Given the description of an element on the screen output the (x, y) to click on. 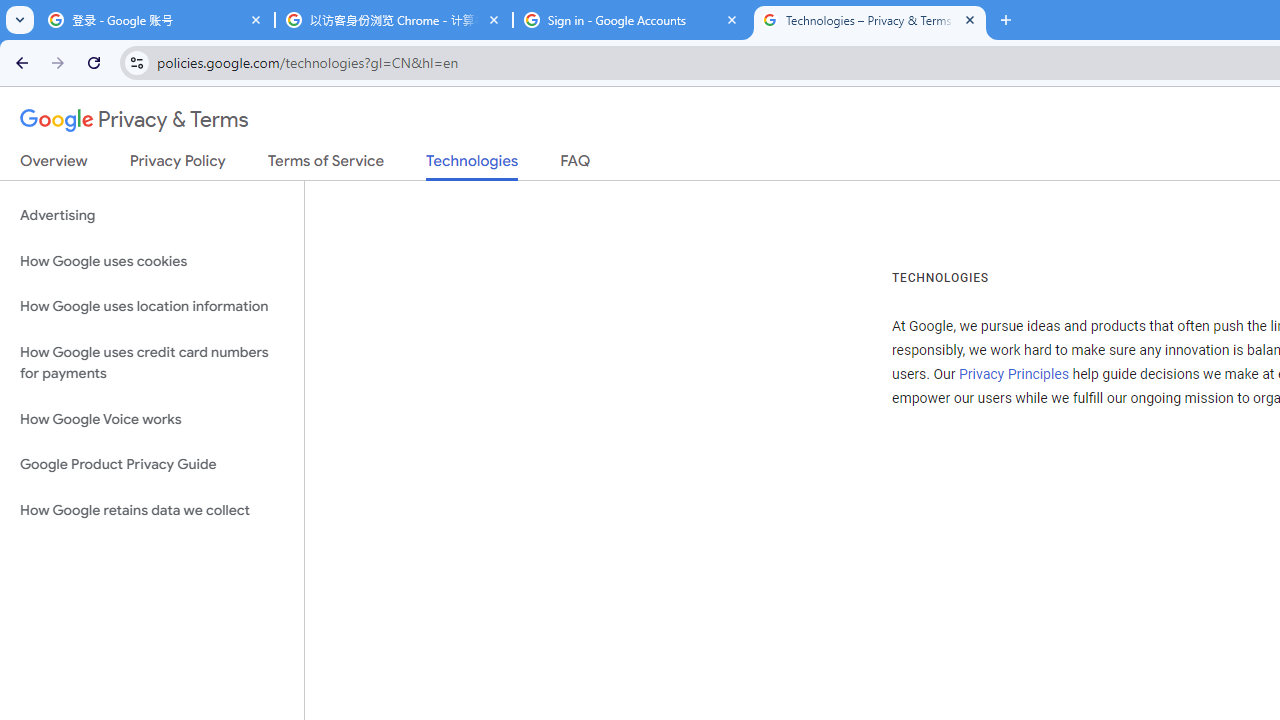
Privacy Principles (1013, 374)
How Google uses credit card numbers for payments (152, 362)
Google Product Privacy Guide (152, 465)
Advertising (152, 215)
How Google uses cookies (152, 261)
